Given the description of an element on the screen output the (x, y) to click on. 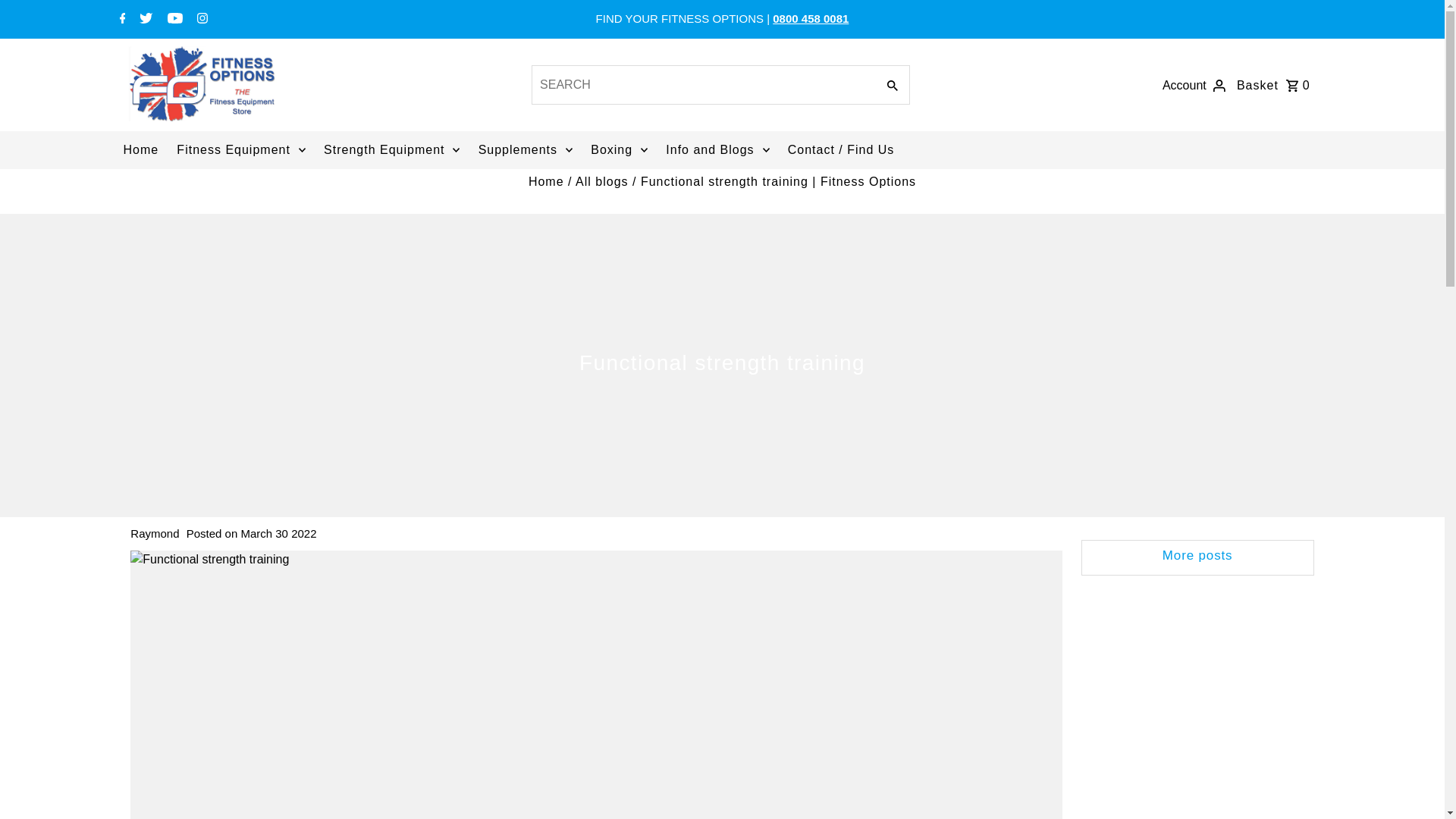
Fitness Equipment (240, 149)
Home (546, 181)
0800 458 0081 (810, 18)
Home (140, 149)
